Given the description of an element on the screen output the (x, y) to click on. 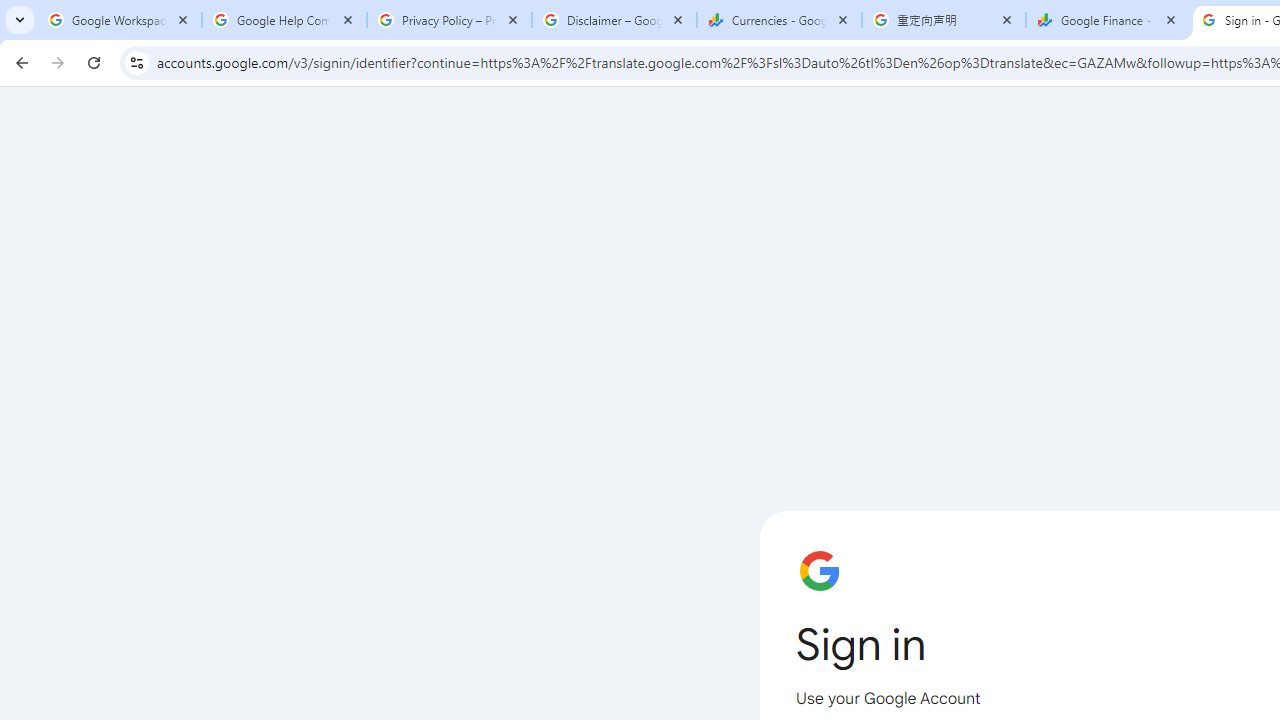
OneDrive (507, 323)
Add a Place (507, 501)
Documents (866, 224)
